Given the description of an element on the screen output the (x, y) to click on. 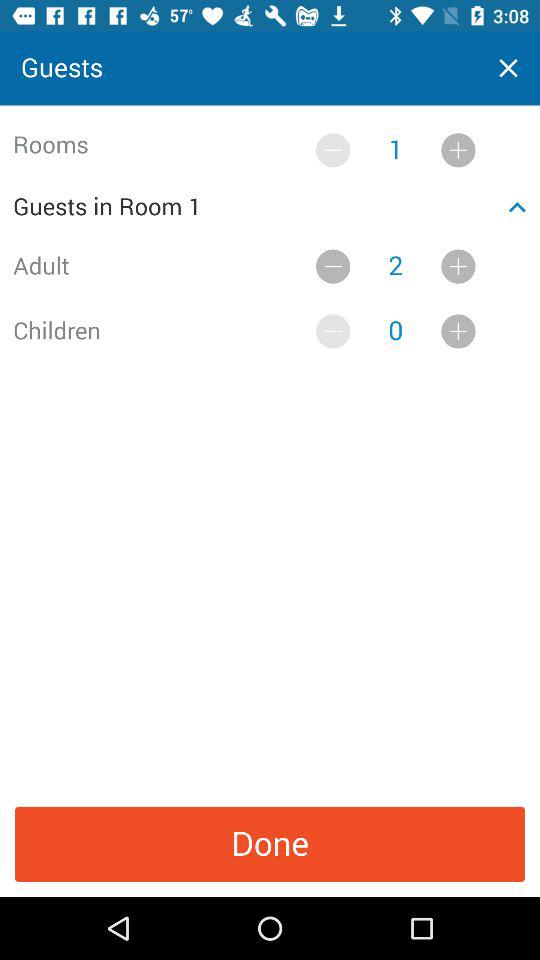
close this windwo (508, 67)
